Given the description of an element on the screen output the (x, y) to click on. 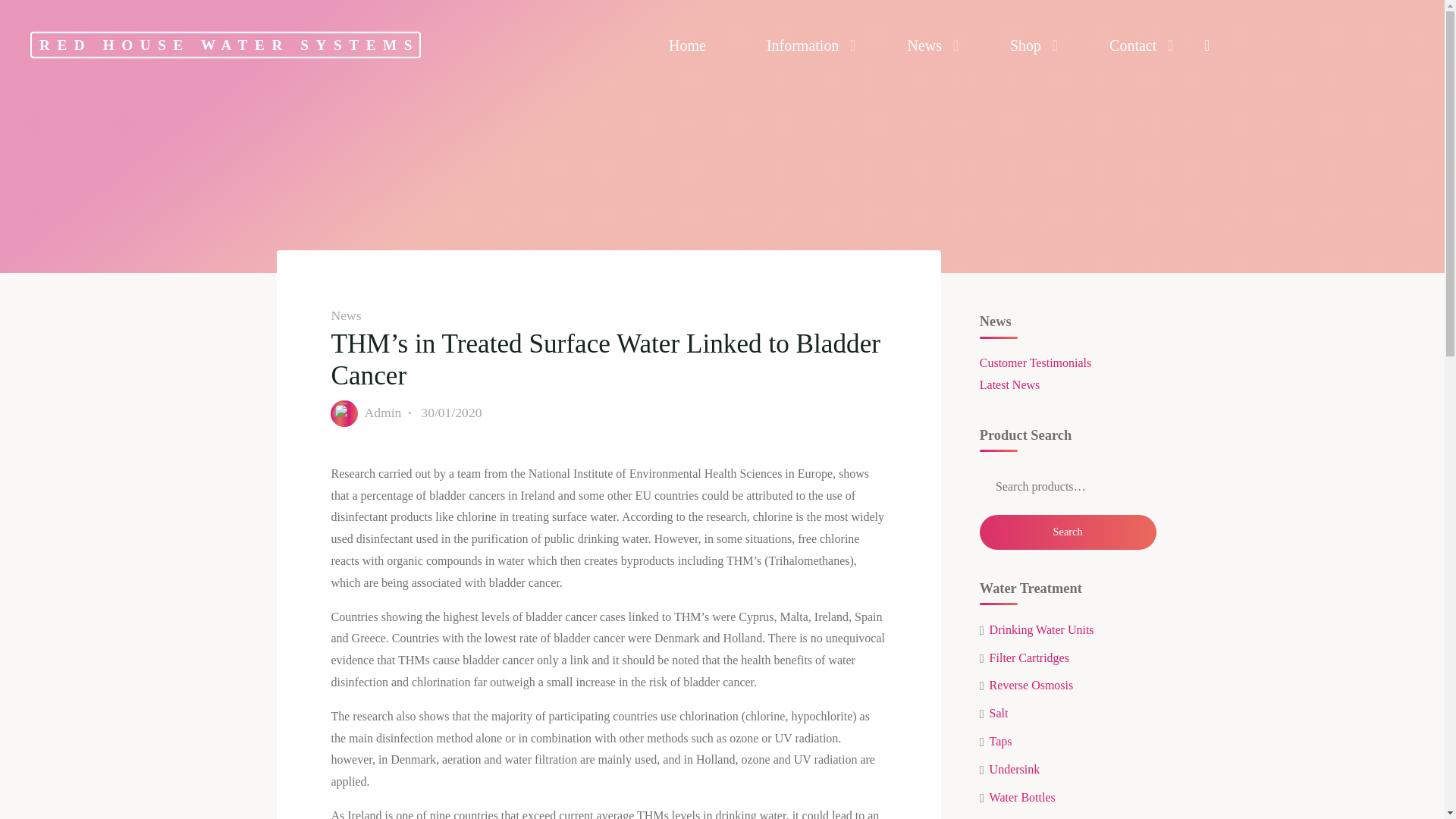
Information (806, 45)
News (927, 45)
View all posts by Admin (382, 412)
RED HOUSE WATER SYSTEMS (225, 44)
Delivering Pure, Safe Water (225, 44)
Home (687, 45)
